Given the description of an element on the screen output the (x, y) to click on. 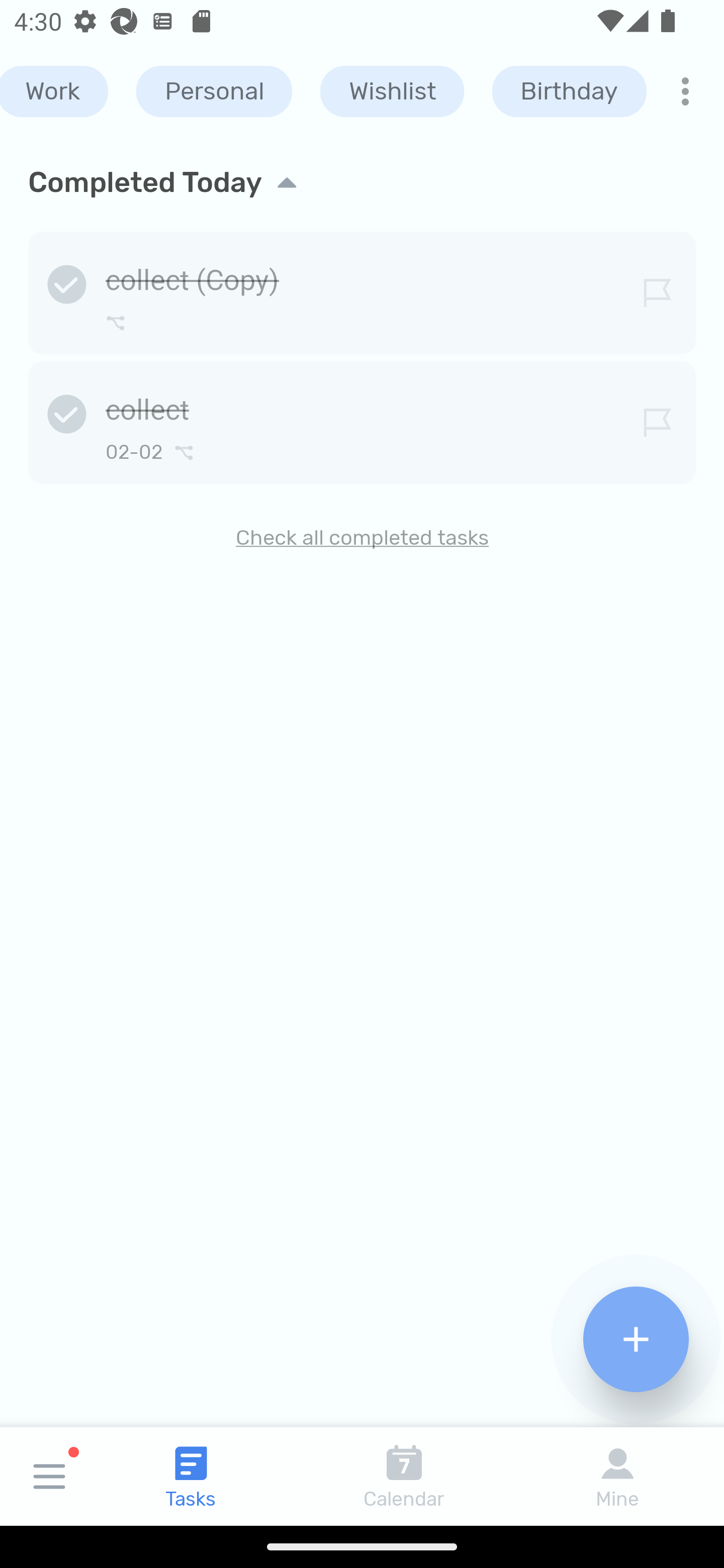
Work (53, 91)
Personal (213, 91)
Wishlist (392, 91)
Birthday (569, 91)
Completed Today (362, 182)
collect (Copy) (362, 289)
collect 02-02 (362, 419)
Check all completed tasks (361, 537)
Tasks (190, 1475)
Calendar (404, 1475)
Mine (617, 1475)
